Given the description of an element on the screen output the (x, y) to click on. 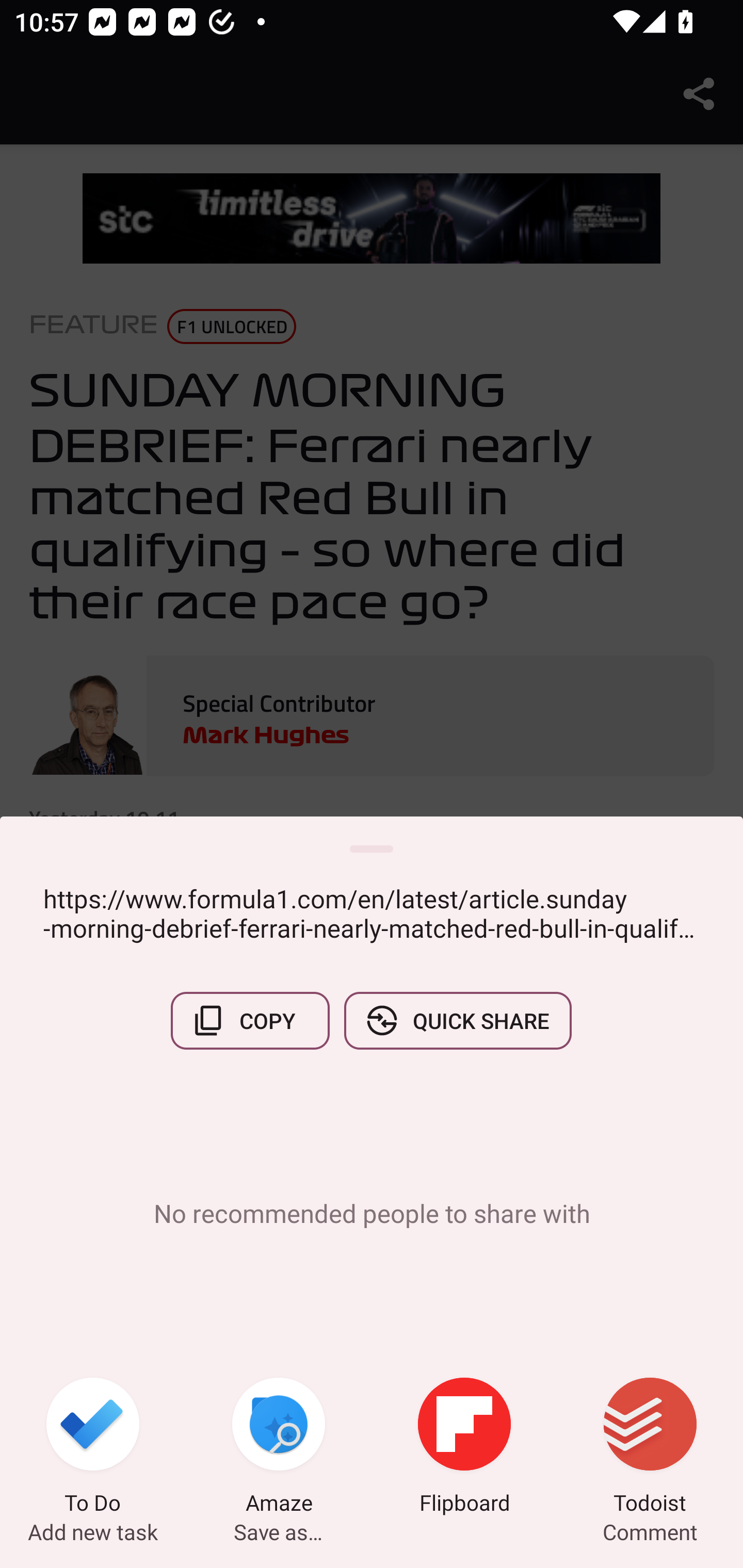
COPY (249, 1020)
QUICK SHARE (457, 1020)
To Do Add new task (92, 1448)
Amaze Save as… (278, 1448)
Flipboard (464, 1448)
Todoist Comment (650, 1448)
